Given the description of an element on the screen output the (x, y) to click on. 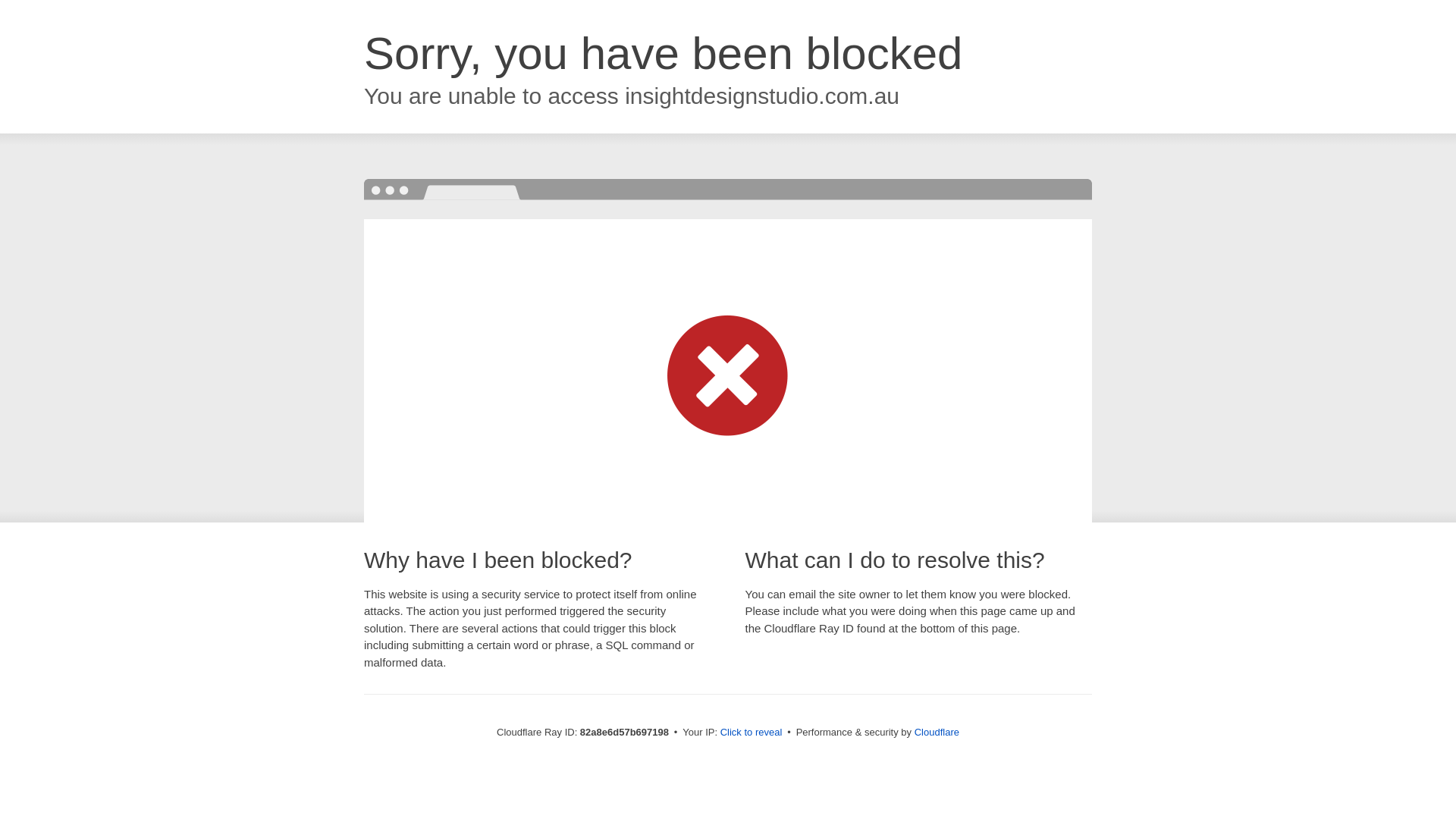
Cloudflare Element type: text (936, 731)
Click to reveal Element type: text (751, 732)
